Given the description of an element on the screen output the (x, y) to click on. 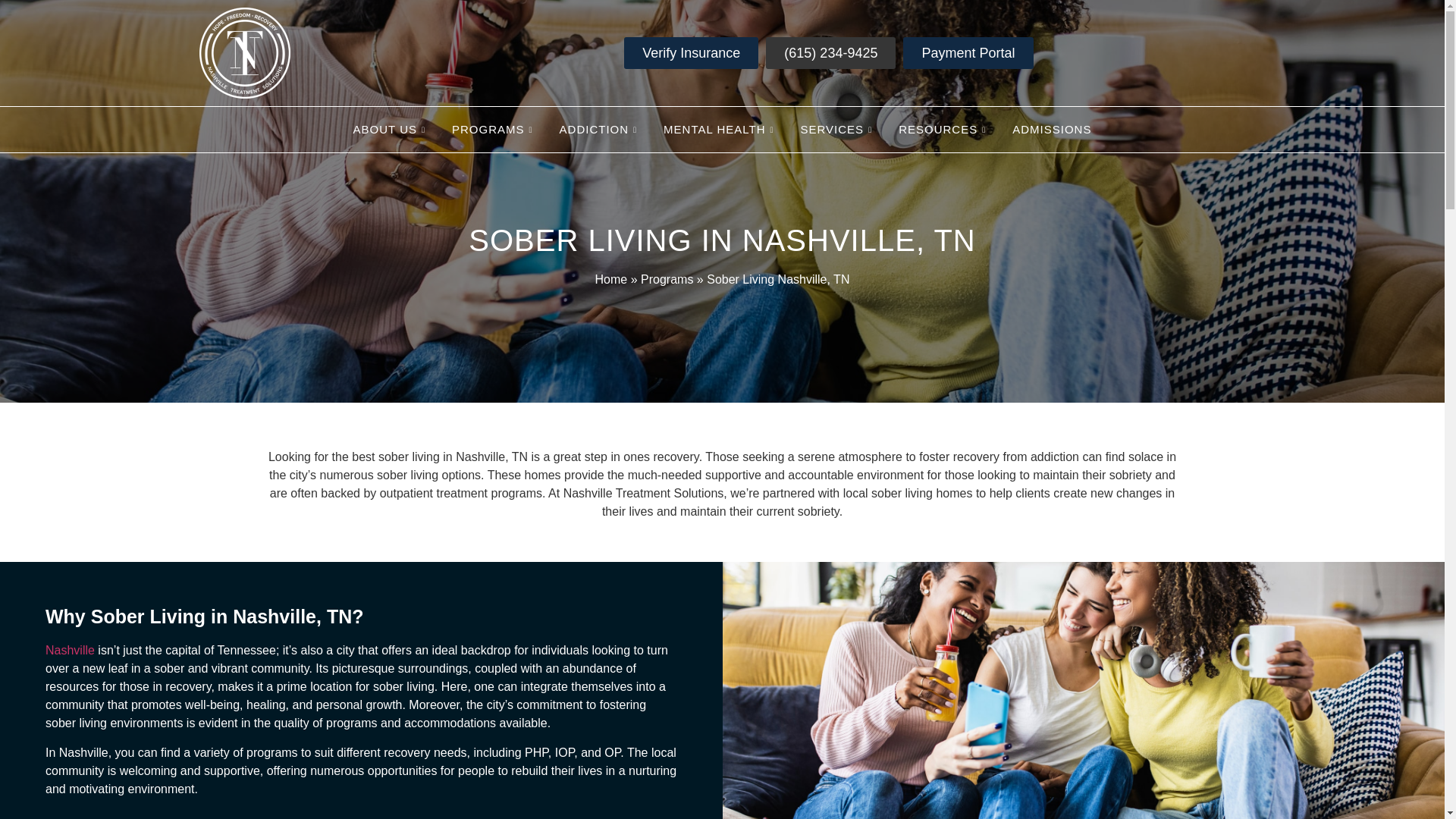
Verify Insurance (691, 52)
Payment Portal (967, 52)
PROGRAMS (494, 129)
ADDICTION (600, 129)
ABOUT US (391, 129)
